Given the description of an element on the screen output the (x, y) to click on. 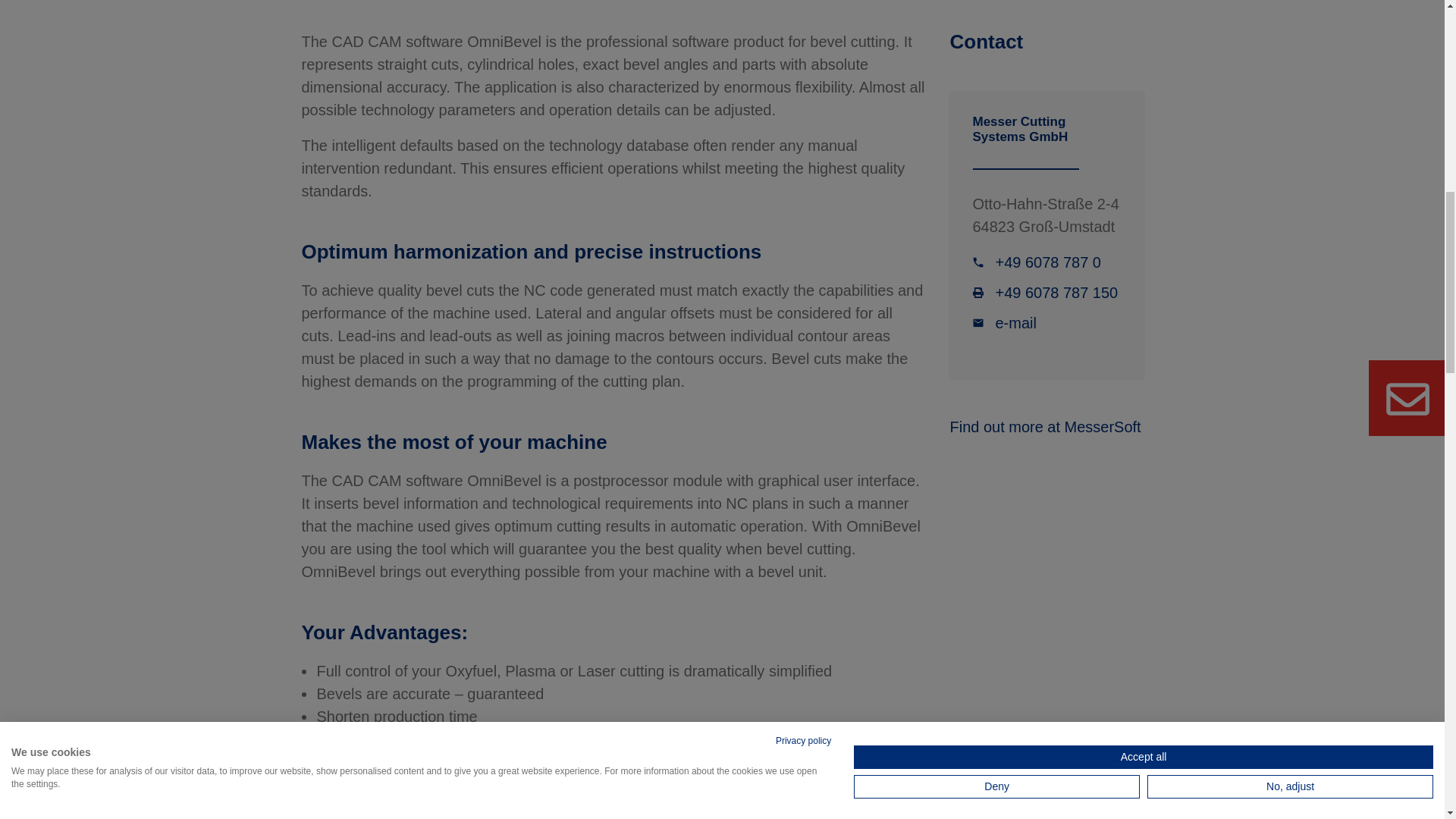
Find out more at MesserSoft (1044, 426)
MesserSoft GmbH (1044, 426)
e-mail (1003, 323)
